Given the description of an element on the screen output the (x, y) to click on. 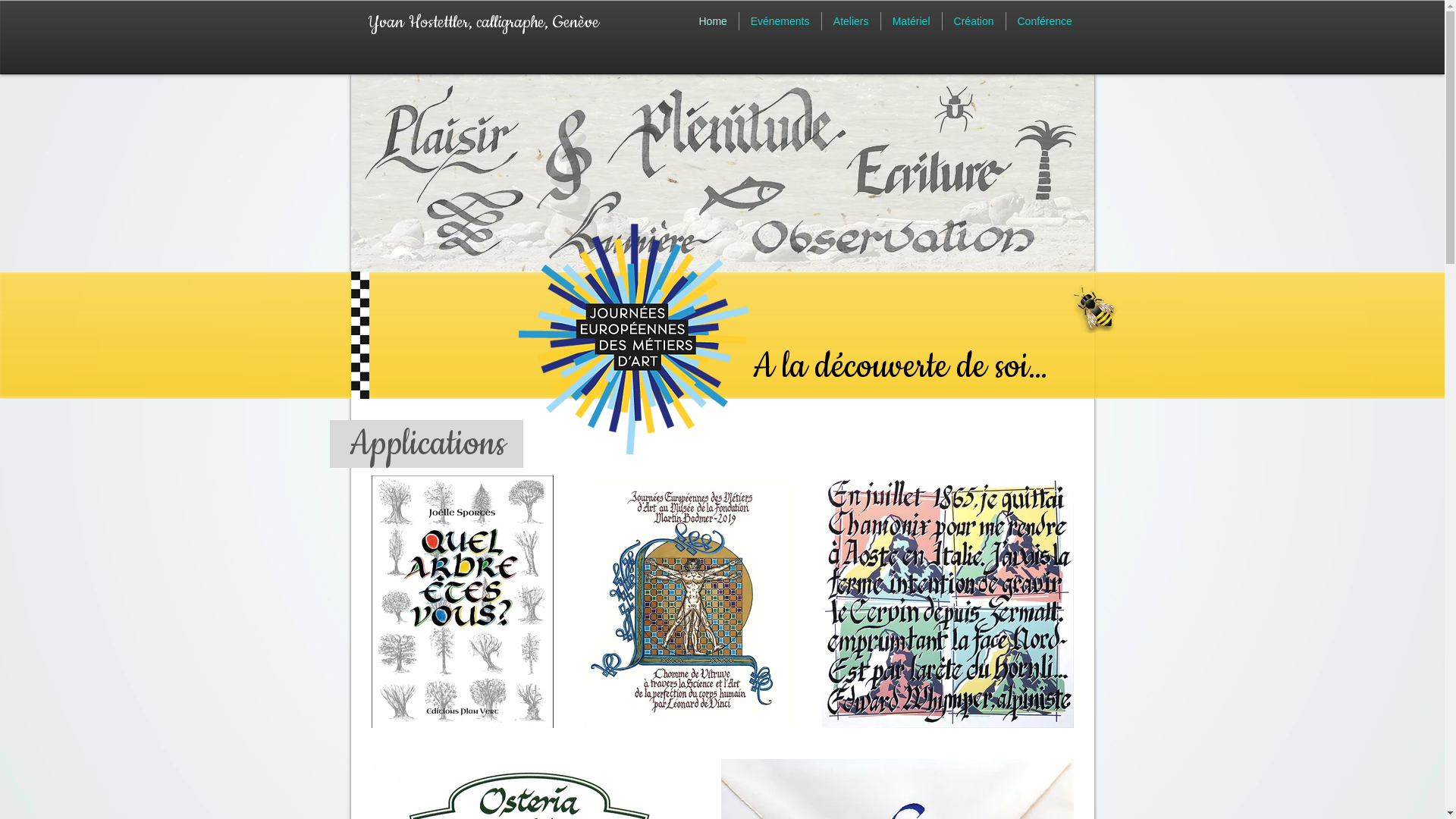
Home Element type: text (712, 21)
Ateliers Element type: text (851, 21)
